Given the description of an element on the screen output the (x, y) to click on. 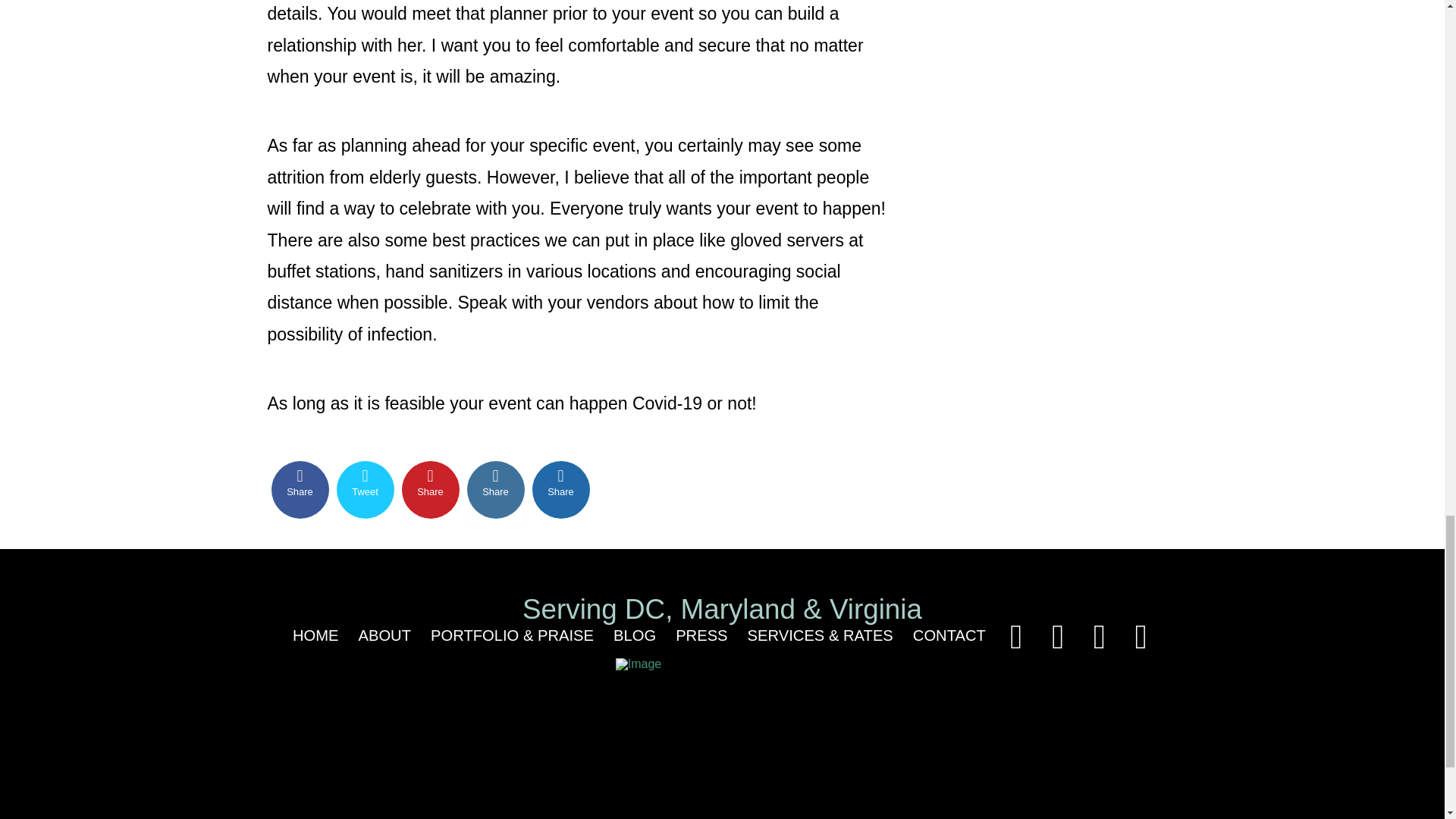
Share (430, 489)
Tweet (365, 489)
Share on Digg (560, 489)
HOME (315, 637)
BLOG (634, 637)
Share on Facebook (299, 489)
Share (495, 489)
Share on LinkedIn (495, 489)
CONTACT (948, 637)
Share on Pinterest (430, 489)
